Given the description of an element on the screen output the (x, y) to click on. 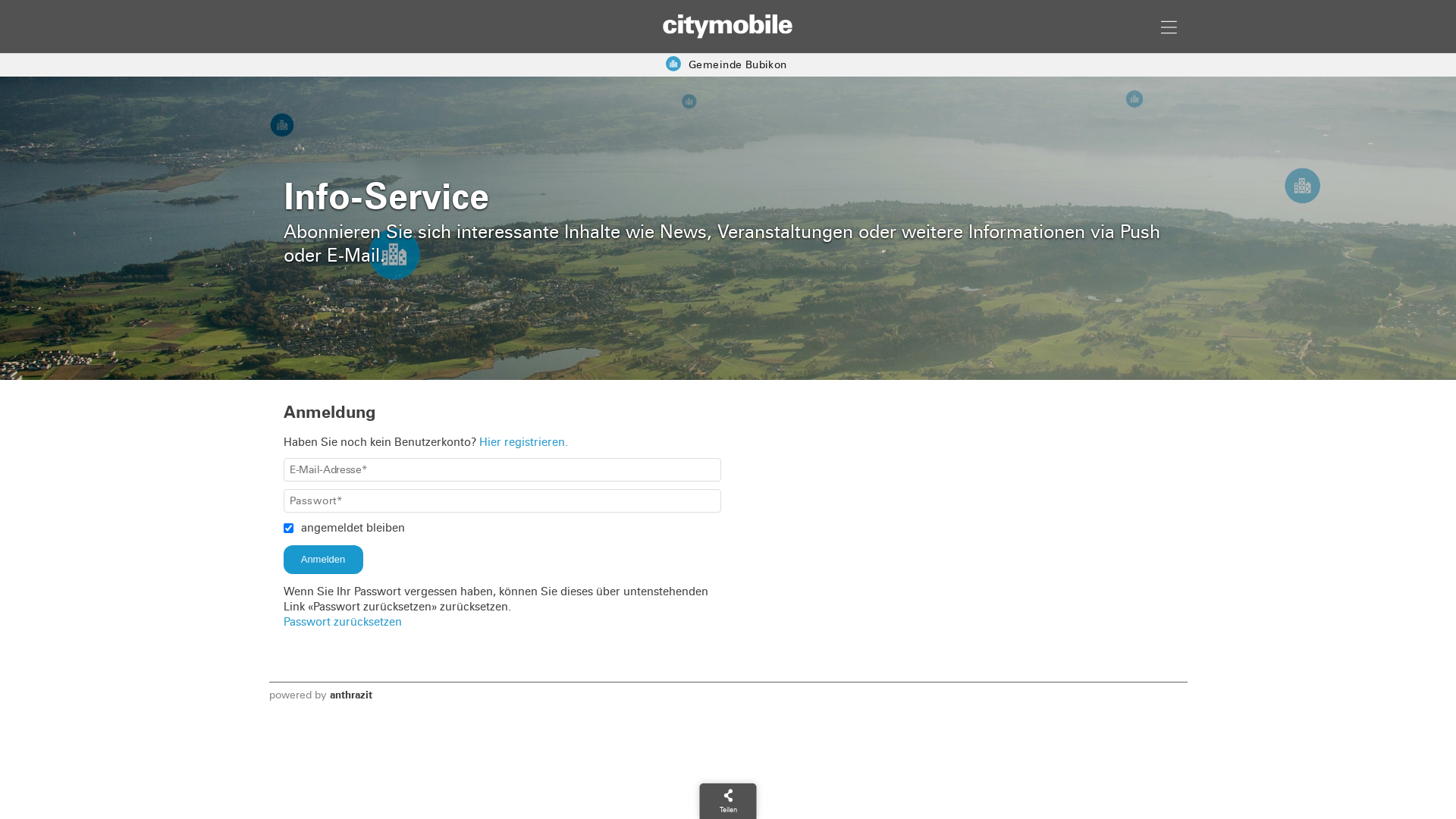
Hier registrieren. Element type: text (523, 441)
by Element type: text (319, 694)
Teilen Element type: text (727, 800)
Navigation anzeigen Element type: hover (1168, 24)
Anmelden Element type: text (323, 559)
Gemeinde Bubikon Element type: text (726, 65)
